Given the description of an element on the screen output the (x, y) to click on. 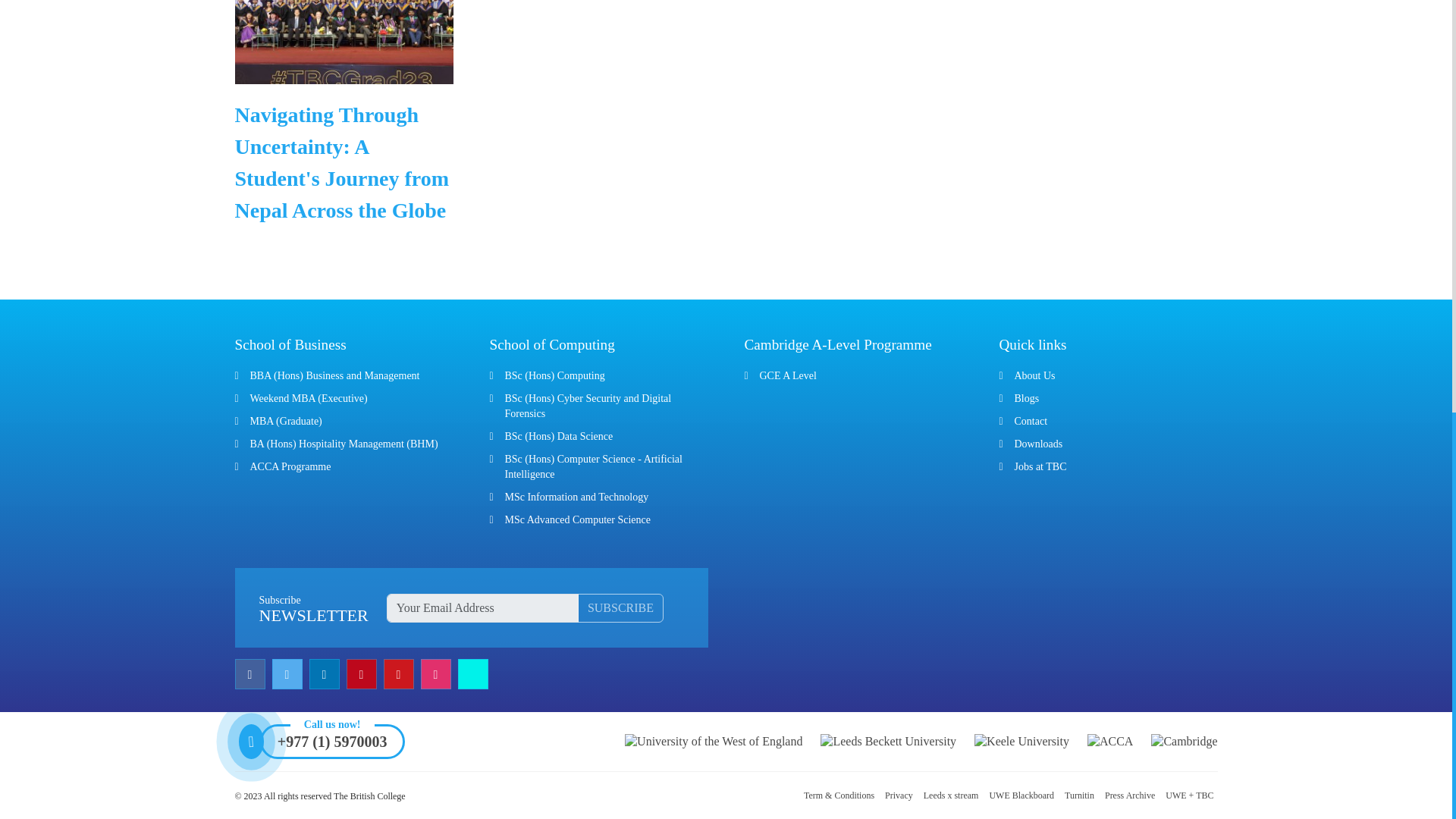
Blogs (1026, 398)
Facebook (251, 674)
Contact (1031, 420)
Linkedin (325, 674)
Twitter (287, 674)
MSc Advanced Computer Science (577, 519)
ACCA Programme (290, 466)
SUBSCRIBE (620, 607)
GCE A Level (788, 375)
Pinterest (363, 674)
